Given the description of an element on the screen output the (x, y) to click on. 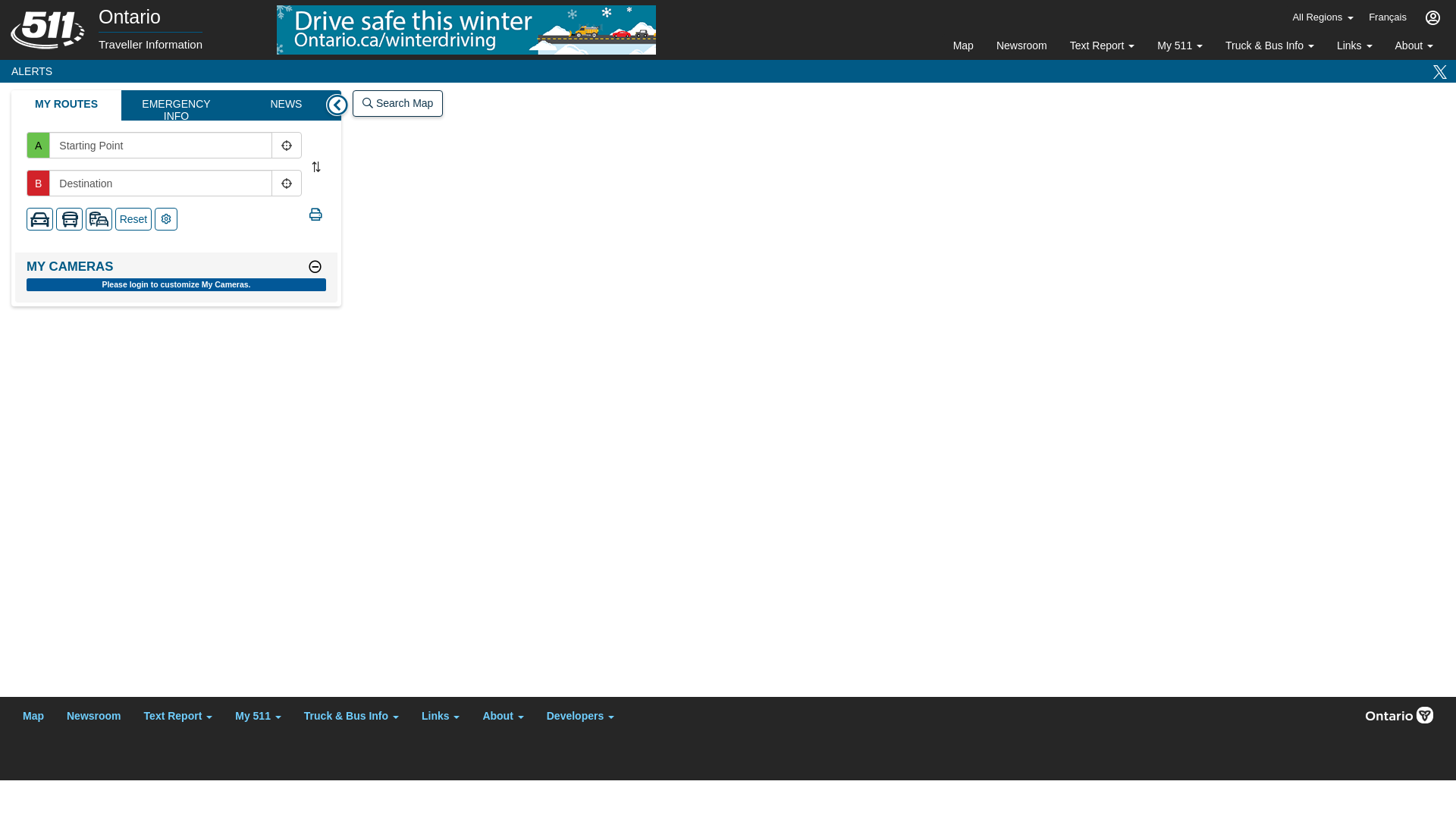
Text Report Element type: text (1101, 46)
Transit Element type: hover (69, 218)
Map Element type: text (963, 46)
Drive + Transit Element type: hover (98, 218)
All Regions Element type: text (1322, 19)
Drive Element type: hover (39, 218)
My Location Starting Point Element type: text (286, 144)
Truck & Bus Info Element type: text (1269, 46)
Map Element type: text (33, 711)
My Location Destination Element type: text (286, 182)
EMERGENCY INFO Element type: text (176, 105)
Developers Element type: text (580, 713)
Search Map Element type: text (397, 103)
My 511 Element type: text (1179, 46)
Newsroom Element type: text (93, 711)
NEWS Element type: text (286, 105)
Swap locations A and B Element type: text (316, 166)
About Element type: text (1413, 46)
My 511 Element type: text (257, 713)
ALERTS Element type: text (30, 70)
Hide Route Planner Element type: hover (336, 105)
Truck & Bus Info Element type: text (351, 713)
Newsroom Element type: text (1021, 46)
User Element type: text (1432, 17)
Text Report Element type: text (178, 713)
Links Element type: text (440, 713)
Reset Element type: text (133, 218)
Print Route Details Element type: hover (315, 216)
Toggle Element type: text (315, 267)
Links Element type: text (1354, 46)
MY ROUTES Element type: text (66, 105)
Route Options Element type: text (165, 218)
About Element type: text (502, 713)
